Given the description of an element on the screen output the (x, y) to click on. 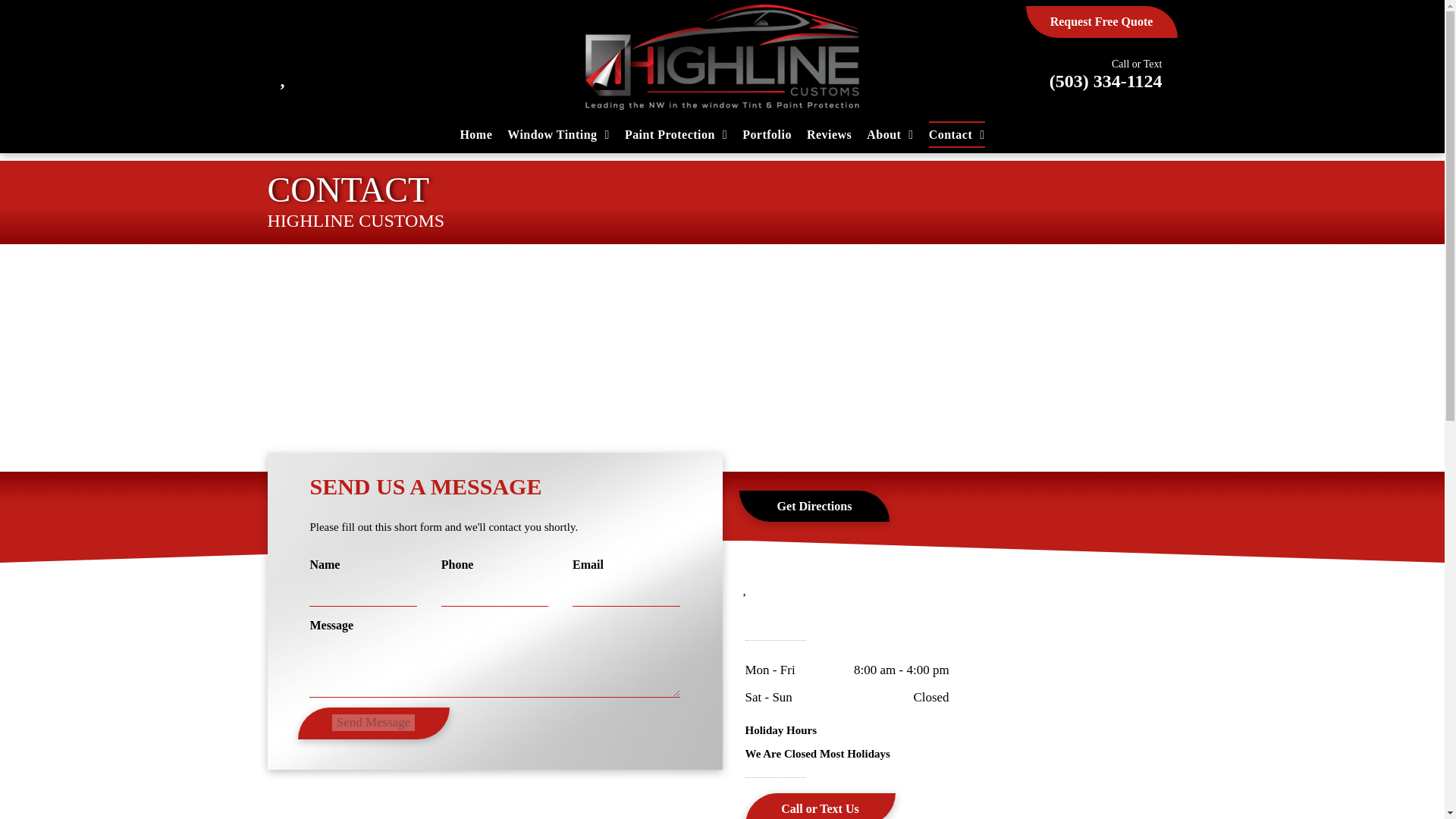
About (889, 134)
Reviews (829, 134)
Contact (956, 134)
Get Directions (814, 506)
Portfolio (767, 134)
Paint Protection (676, 134)
Home (475, 134)
Send Message (372, 722)
Call or Text Us (819, 806)
Request Free Quote (1100, 21)
